Given the description of an element on the screen output the (x, y) to click on. 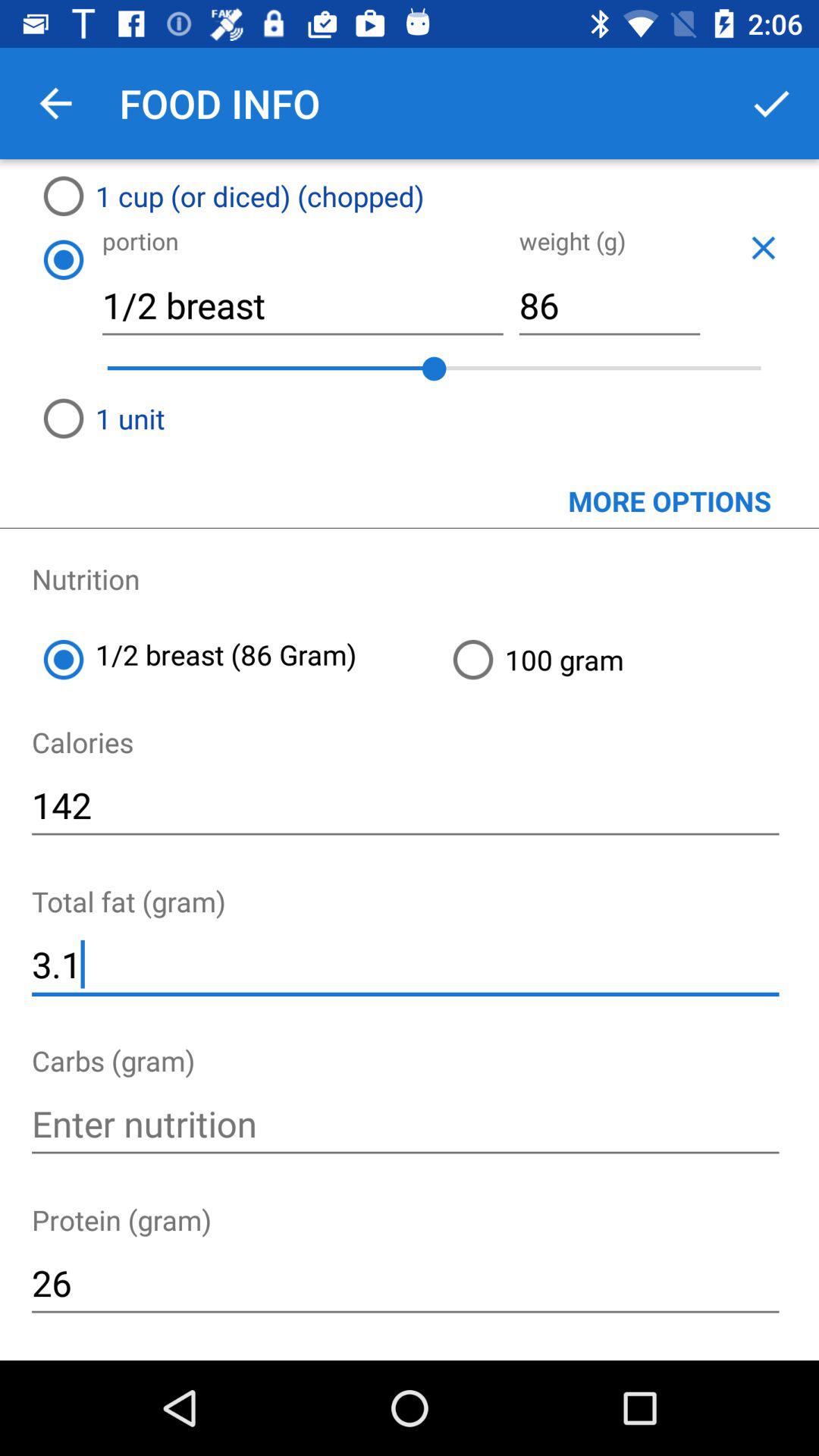
select portion option (62, 259)
